Given the description of an element on the screen output the (x, y) to click on. 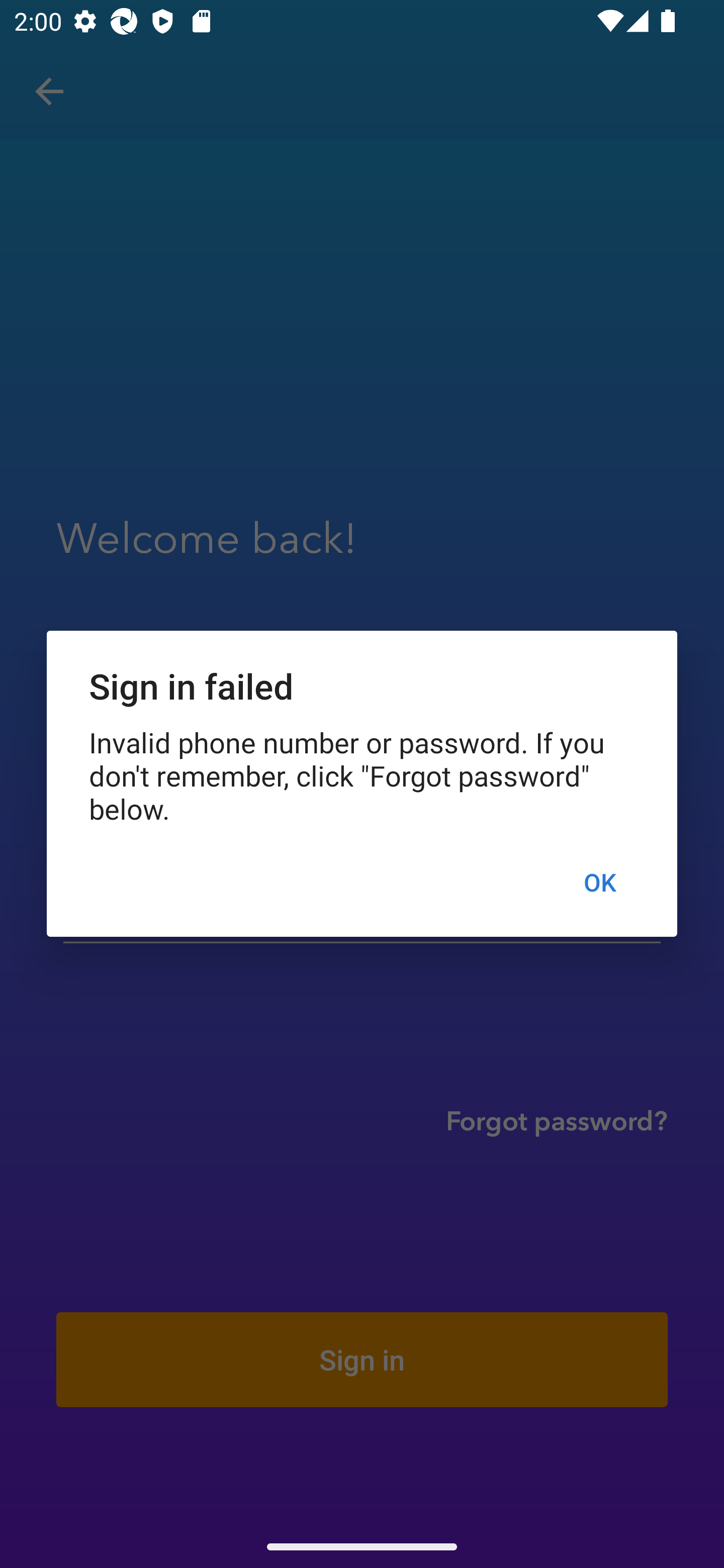
OK (599, 881)
